Given the description of an element on the screen output the (x, y) to click on. 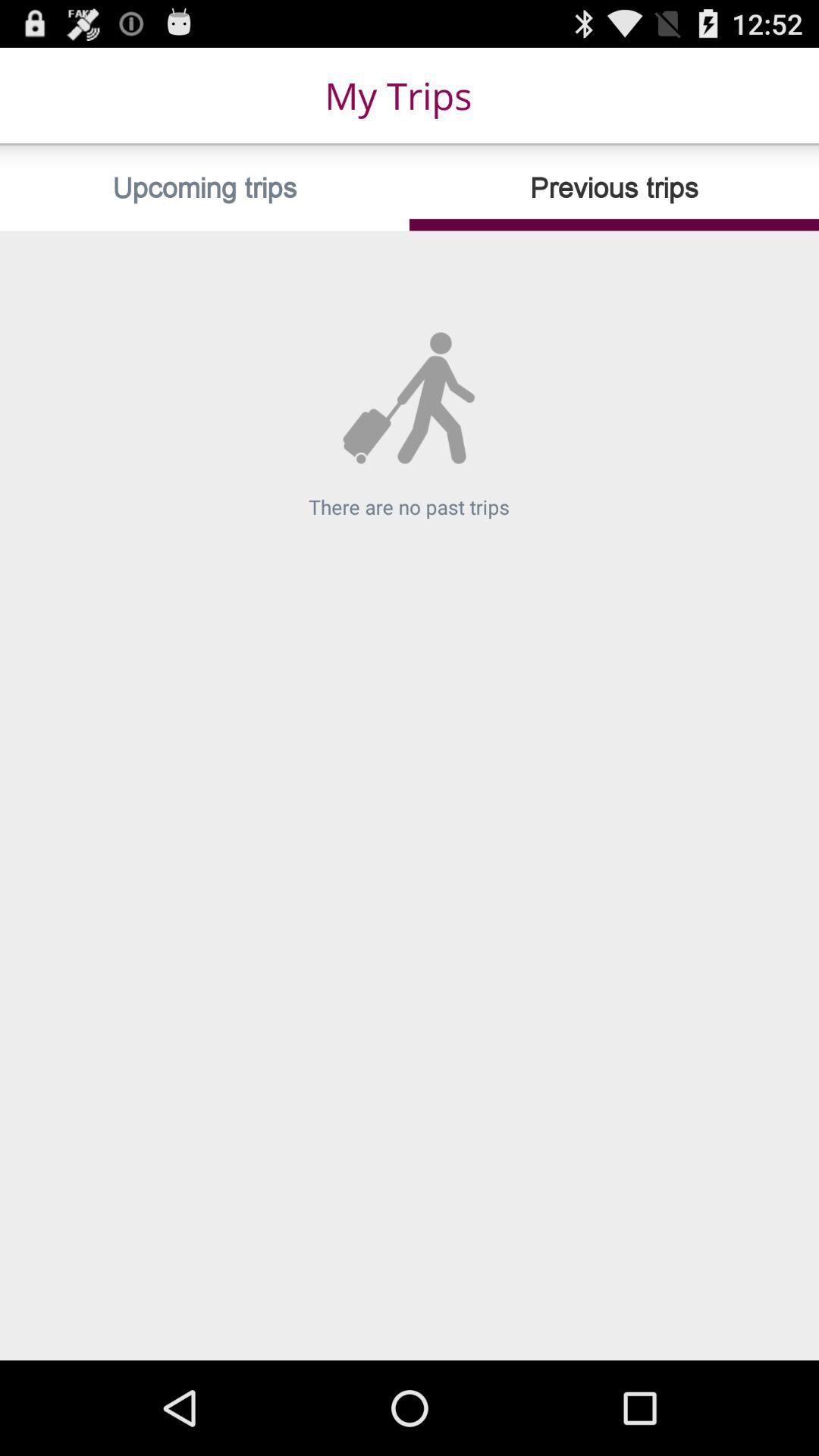
open the icon below my trips item (614, 187)
